Given the description of an element on the screen output the (x, y) to click on. 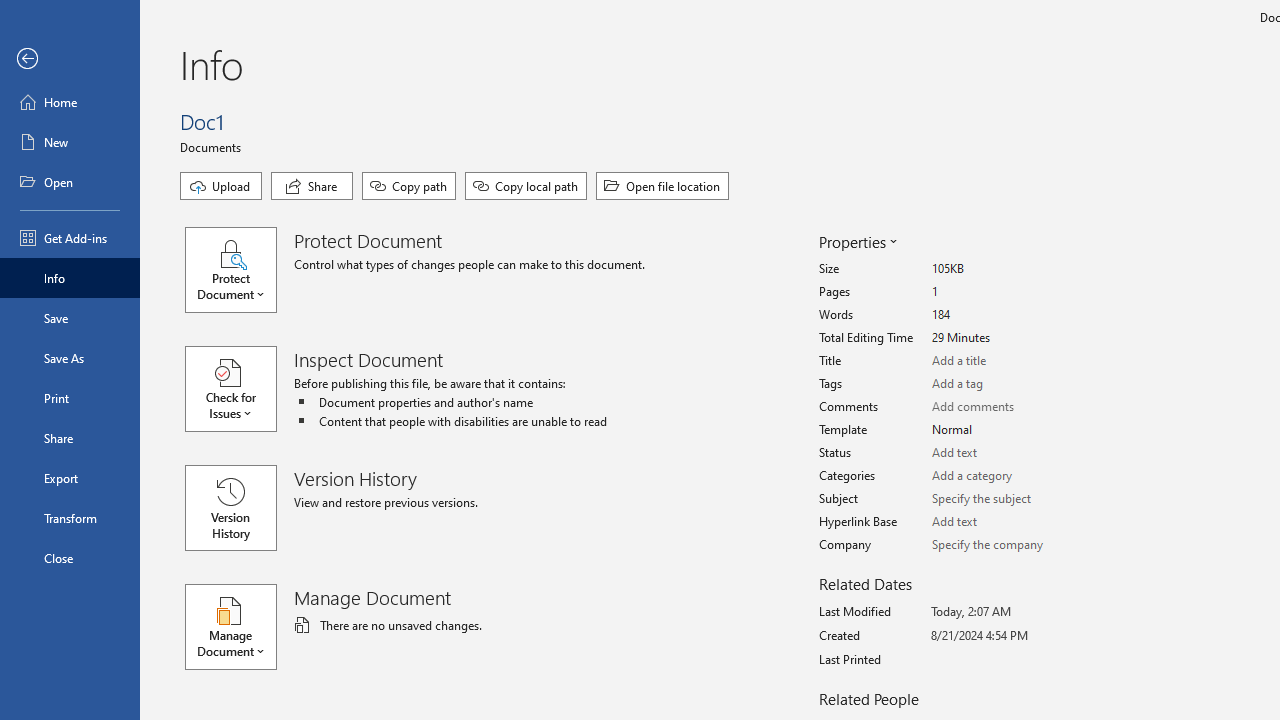
Words (1006, 315)
Copy path (408, 186)
Total Editing Time (1006, 338)
Back (69, 59)
Subject (1006, 499)
Template (1006, 430)
Save As (69, 357)
Version History (230, 507)
Properties (856, 241)
Size (1006, 269)
Manage Document (239, 626)
Get Add-ins (69, 237)
Hyperlink Base (1006, 522)
Close (69, 557)
Pages (1006, 291)
